Given the description of an element on the screen output the (x, y) to click on. 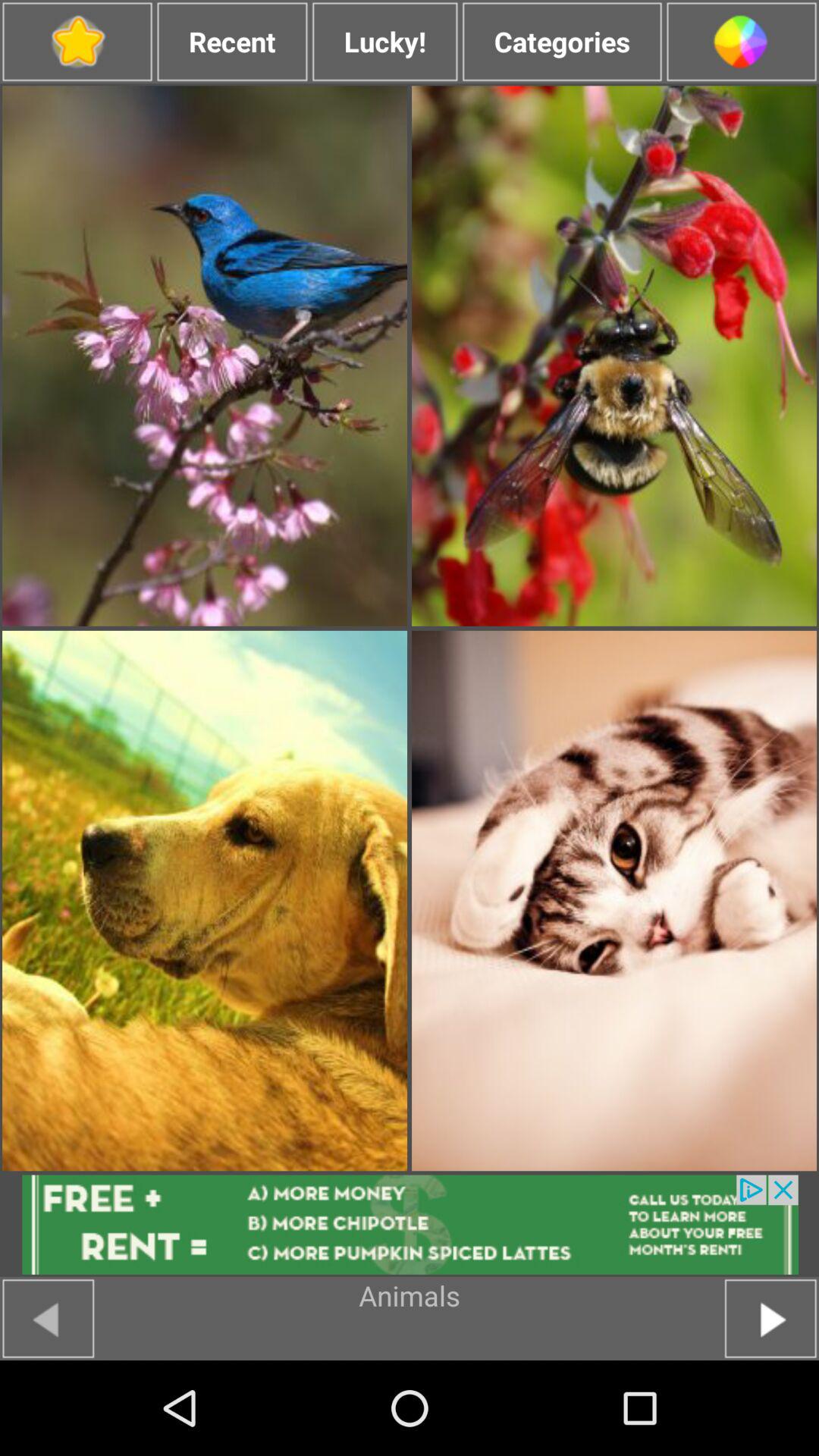
go to favarat (77, 41)
